Given the description of an element on the screen output the (x, y) to click on. 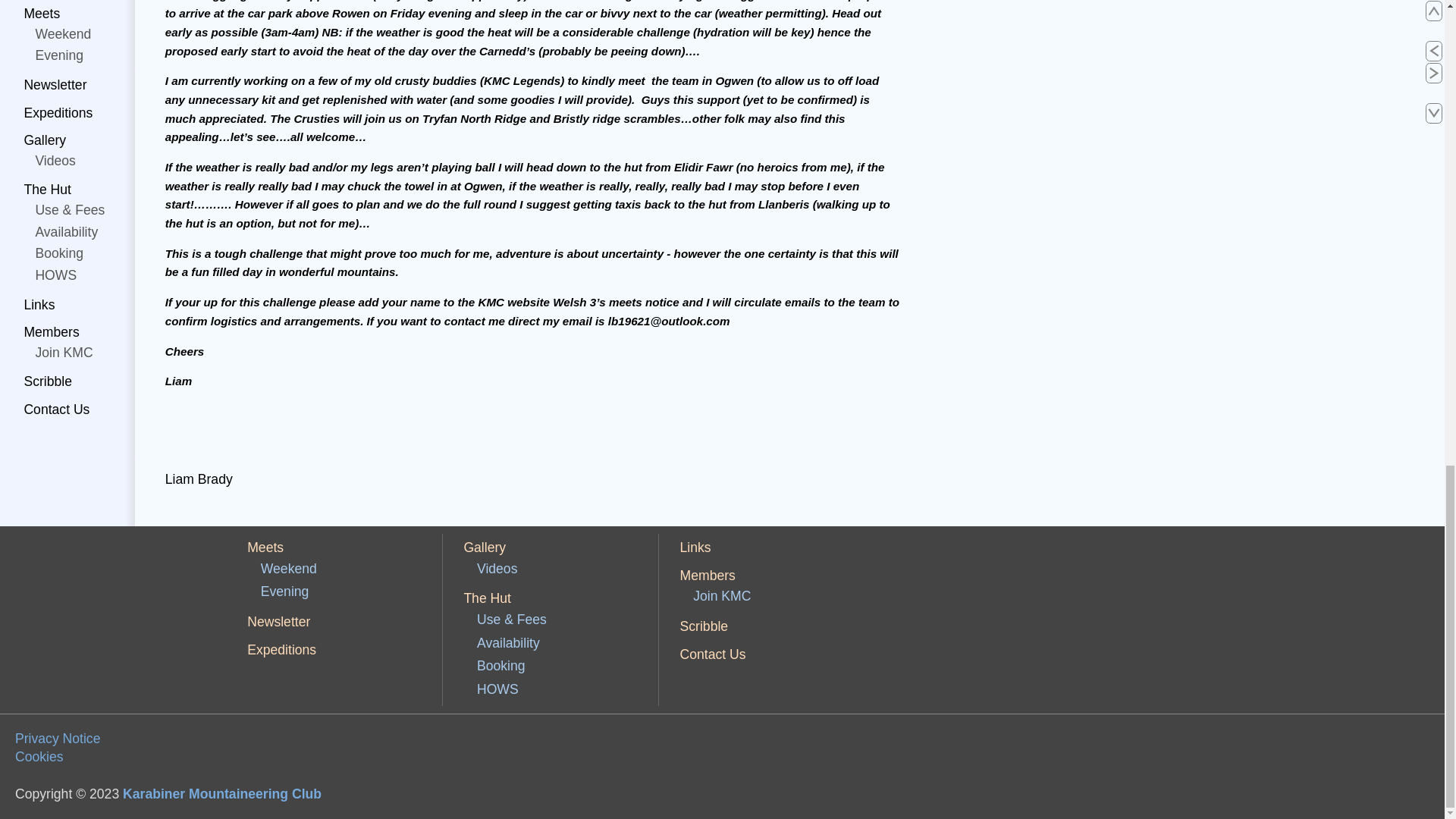
HOWS (497, 688)
Newsletter (278, 621)
Evening (284, 590)
Booking (500, 665)
Availability (508, 642)
Weekend (288, 568)
Expeditions (281, 649)
Gallery (484, 547)
The Hut (487, 598)
Meets (264, 547)
